Given the description of an element on the screen output the (x, y) to click on. 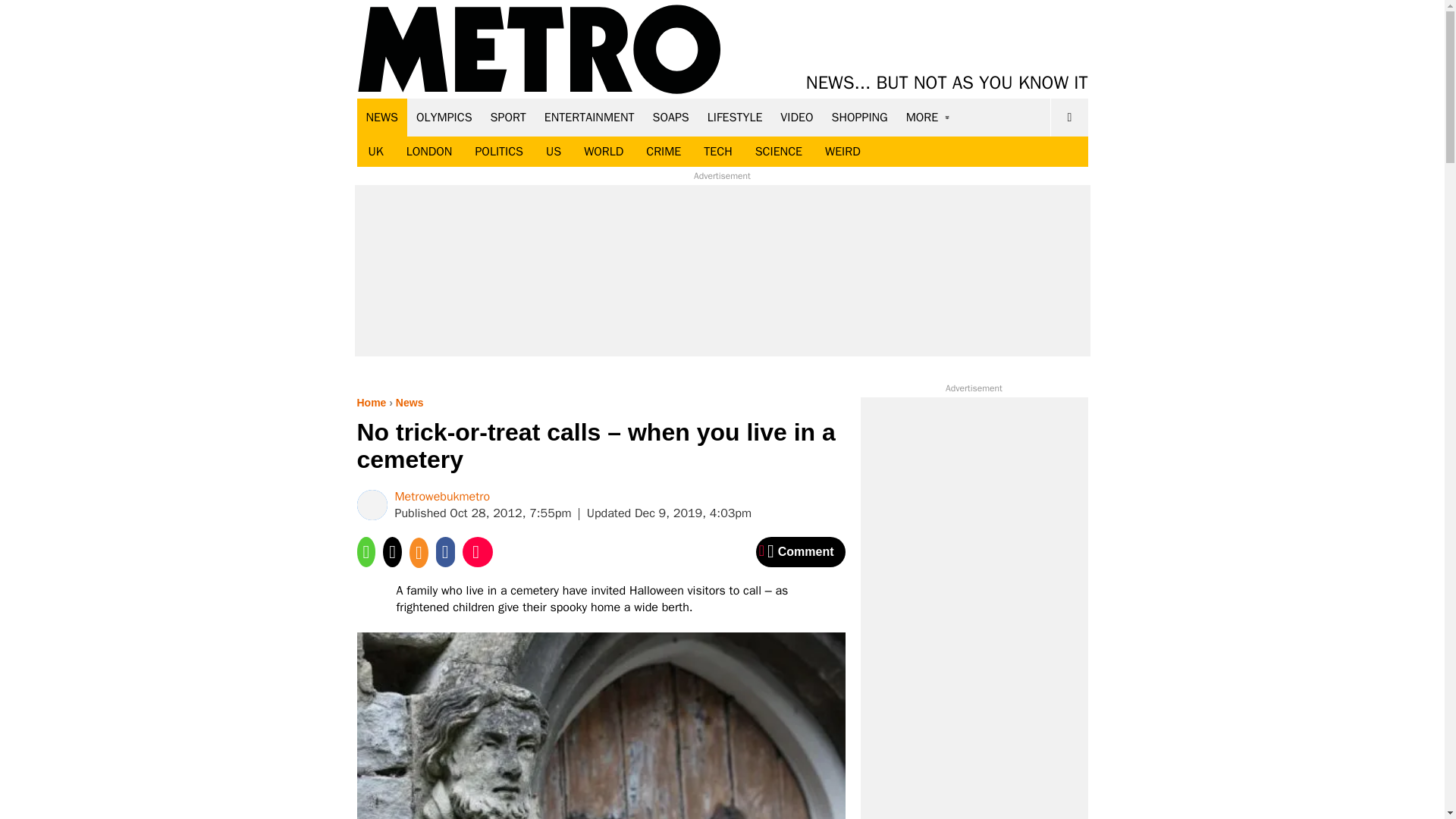
CRIME (663, 151)
Metro (539, 50)
WEIRD (842, 151)
UK (375, 151)
SPORT (508, 117)
NEWS (381, 117)
LONDON (429, 151)
SCIENCE (778, 151)
WORLD (603, 151)
US (553, 151)
